Given the description of an element on the screen output the (x, y) to click on. 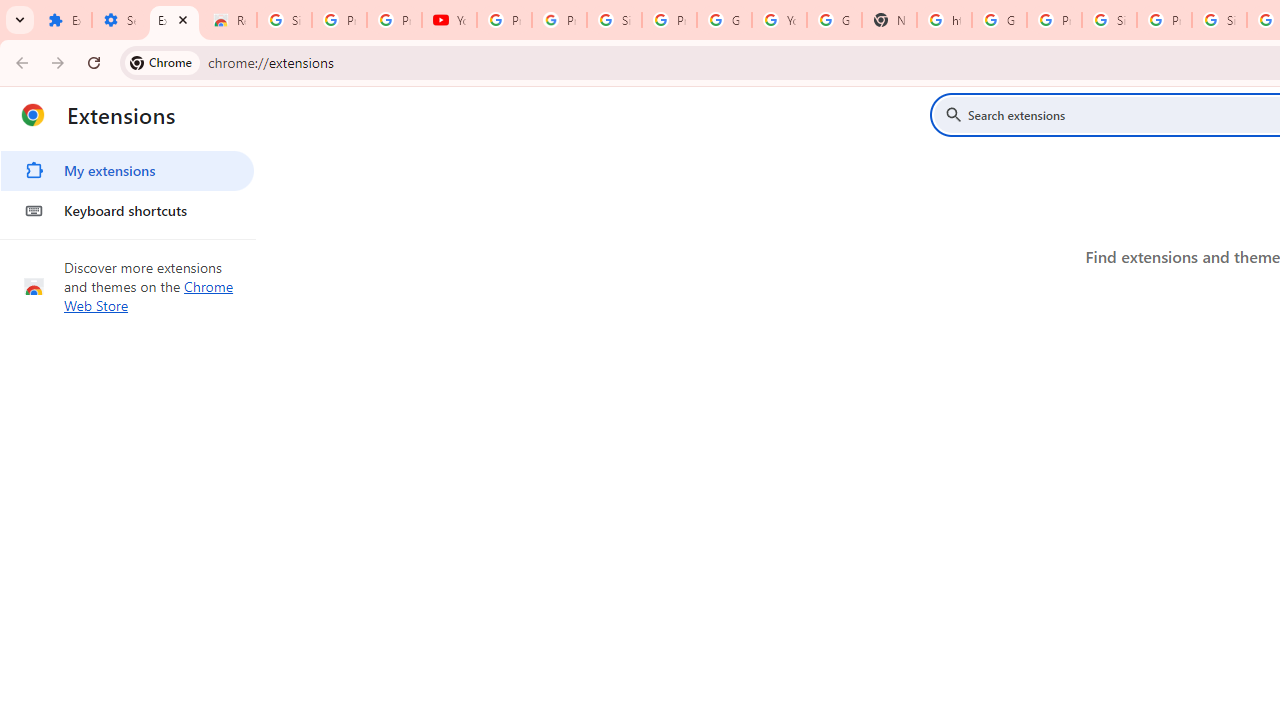
Sign in - Google Accounts (284, 20)
Sign in - Google Accounts (1218, 20)
Extensions (174, 20)
